Given the description of an element on the screen output the (x, y) to click on. 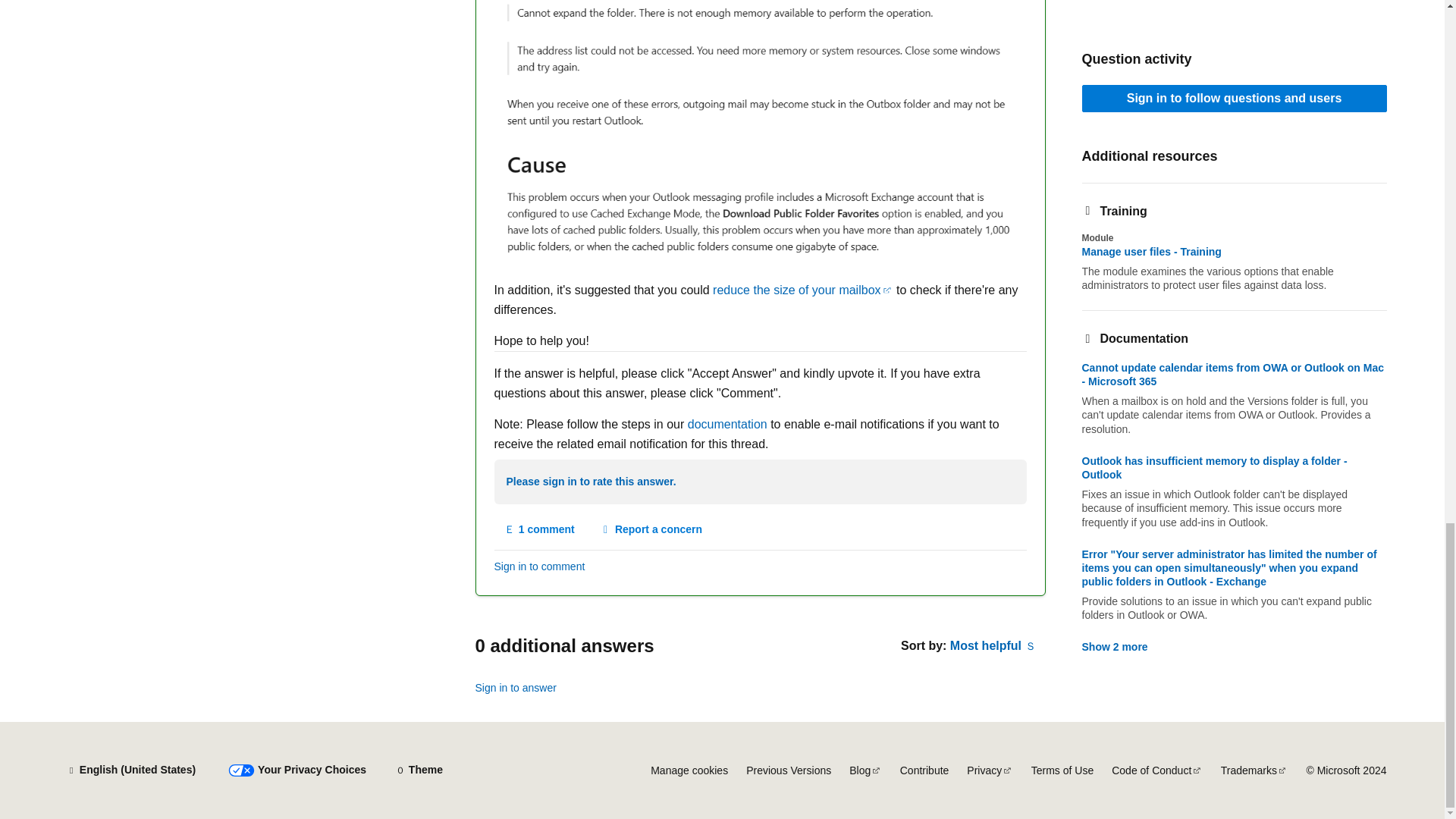
Report a concern (651, 529)
Show comments for this answer (540, 529)
